Given the description of an element on the screen output the (x, y) to click on. 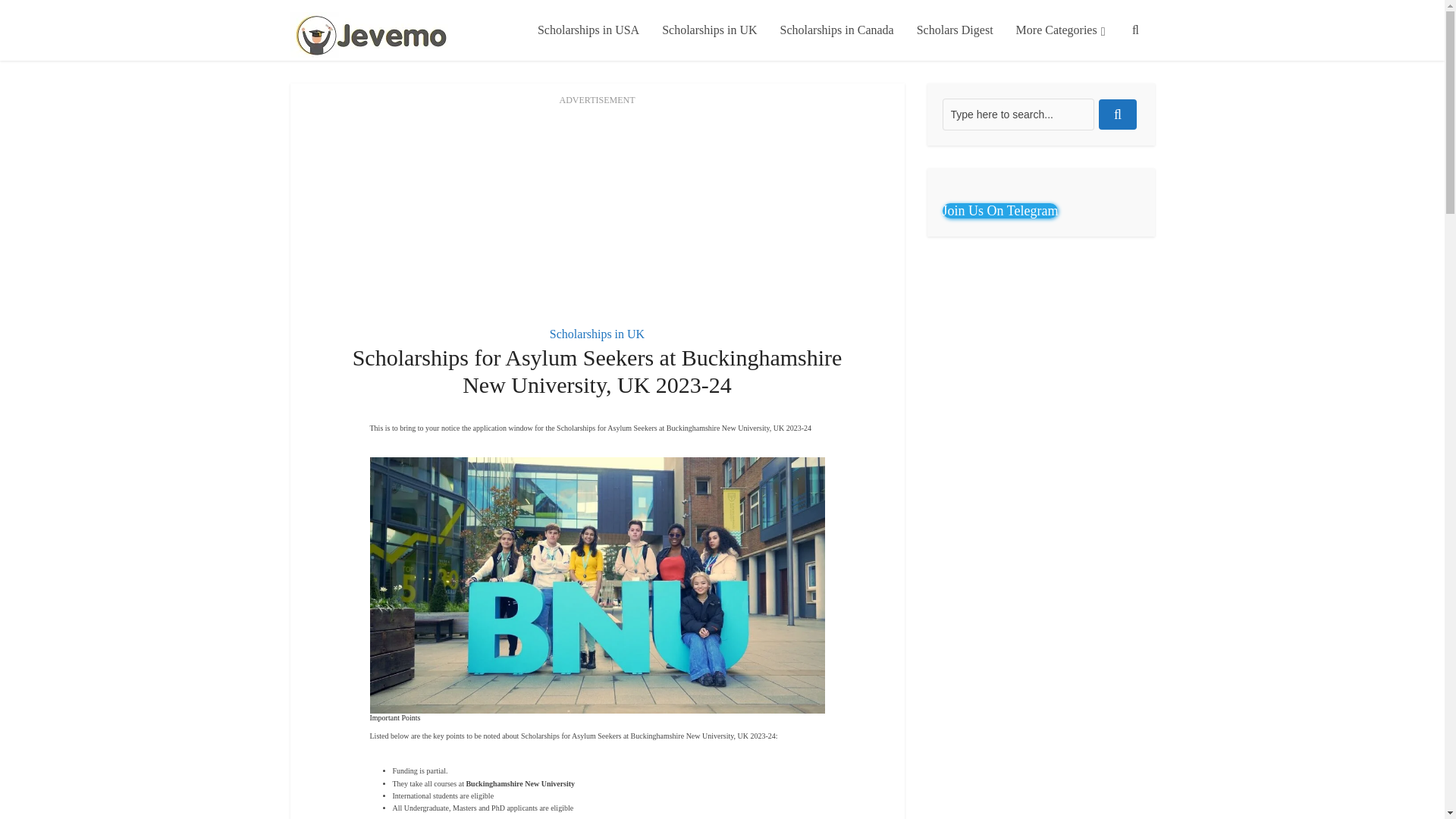
Scholarships in Canada (836, 30)
Type here to search... (1017, 114)
Scholarships in UK (597, 333)
Scholarships in USA (587, 30)
More Categories (1060, 30)
Scholars Digest (954, 30)
Type here to search... (1017, 114)
Scholarships in UK (709, 30)
